Given the description of an element on the screen output the (x, y) to click on. 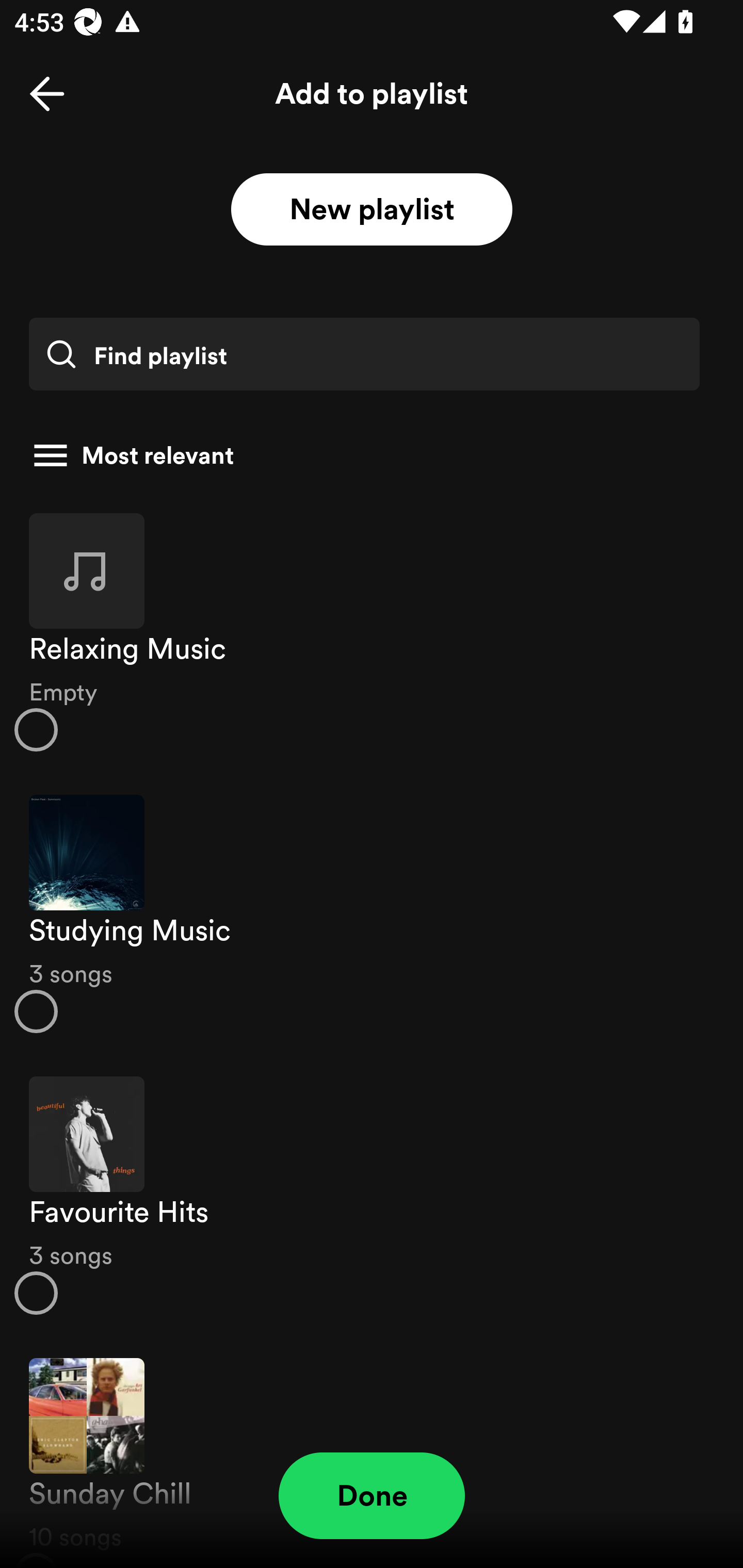
Back (46, 93)
New playlist (371, 210)
Find playlist (363, 354)
Most relevant (363, 455)
Relaxing Music Empty (371, 631)
Studying Music 3 songs (371, 914)
Favourite Hits 3 songs (371, 1195)
Sunday Chill 10 songs (371, 1451)
Done (371, 1495)
